Given the description of an element on the screen output the (x, y) to click on. 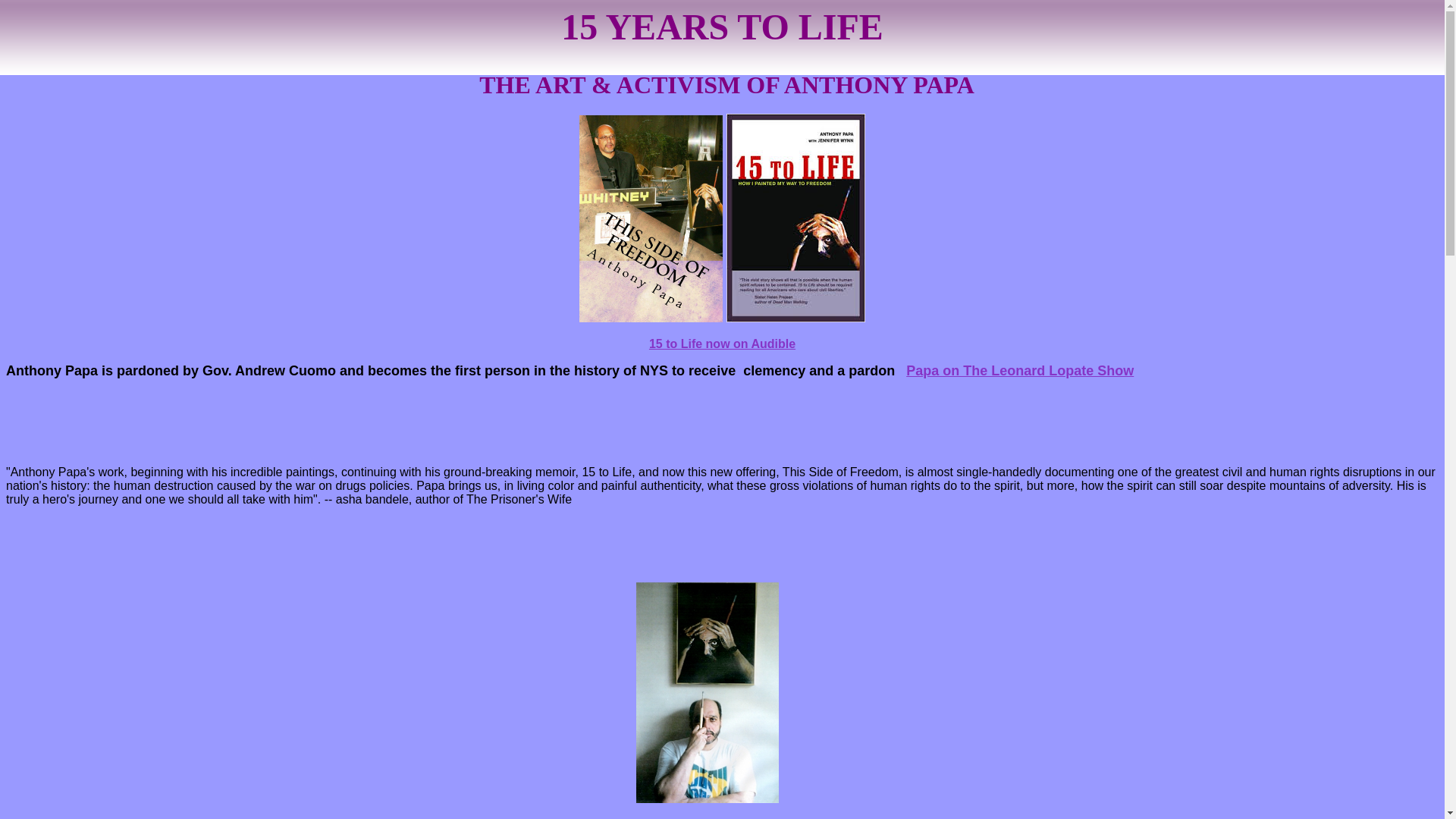
15 to Life now on Audible Element type: text (722, 343)
Papa on The Leonard Lopate Show Element type: text (1019, 370)
